Given the description of an element on the screen output the (x, y) to click on. 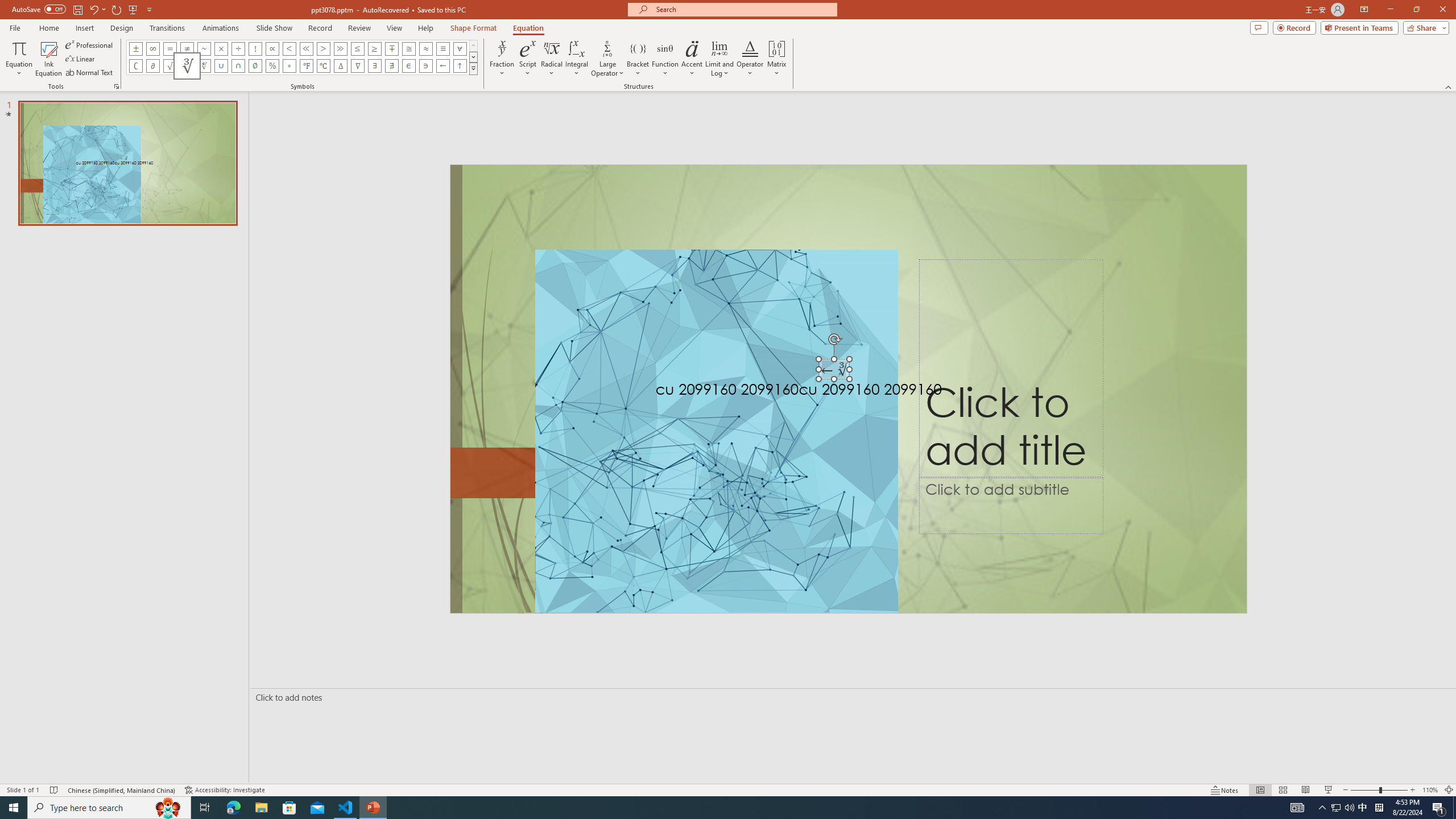
Equation Symbol Fourth Root (203, 65)
Equation Symbol Less Than or Equal To (357, 48)
Equation Symbol Left Arrow (442, 65)
Equation Symbol Degrees Fahrenheit (306, 65)
Equation Symbol Not Equal To (187, 48)
Equation Symbol Greater Than or Equal To (374, 48)
Equation Symbol Cube Root (186, 65)
